Given the description of an element on the screen output the (x, y) to click on. 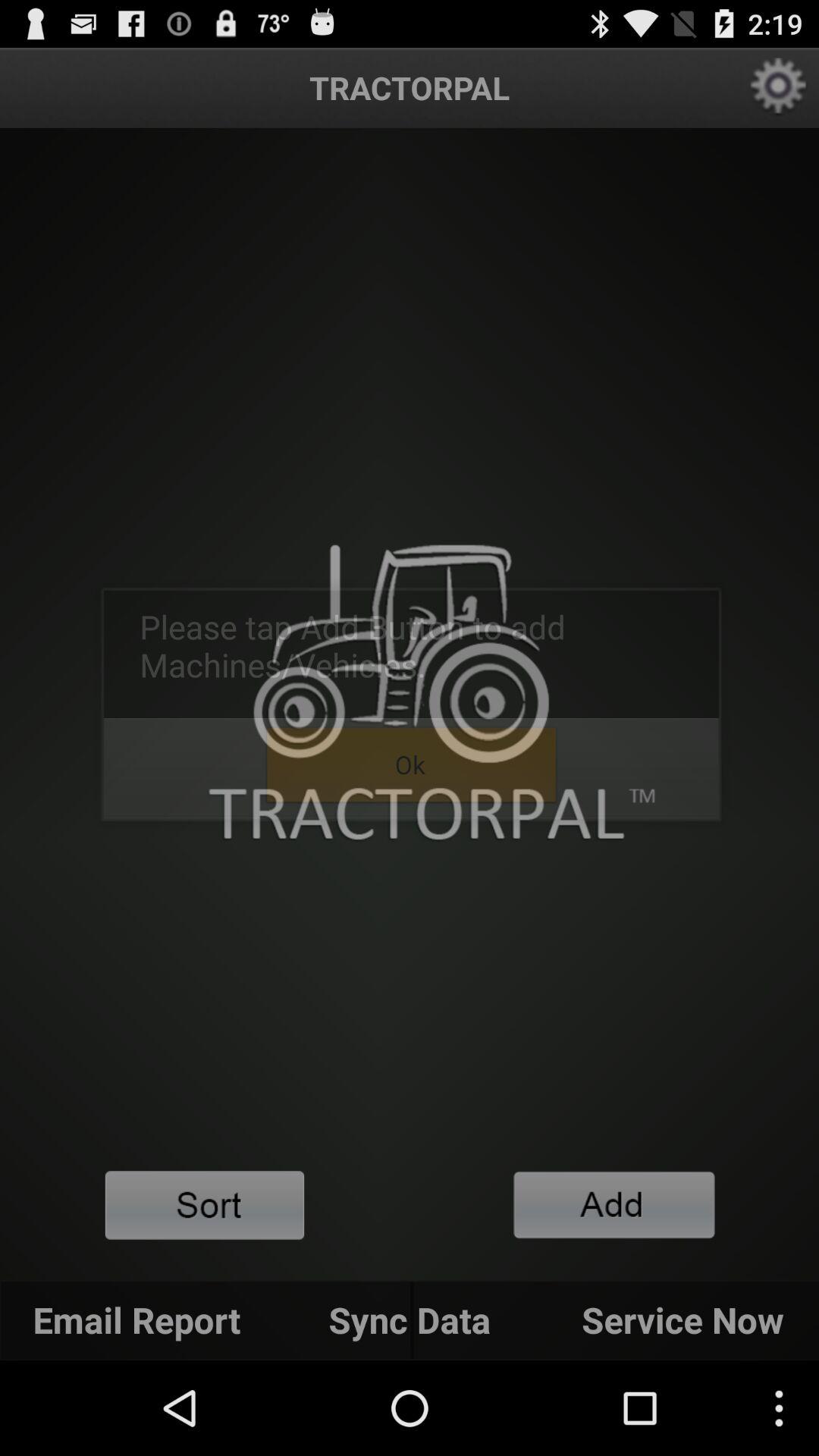
organize (204, 1205)
